Given the description of an element on the screen output the (x, y) to click on. 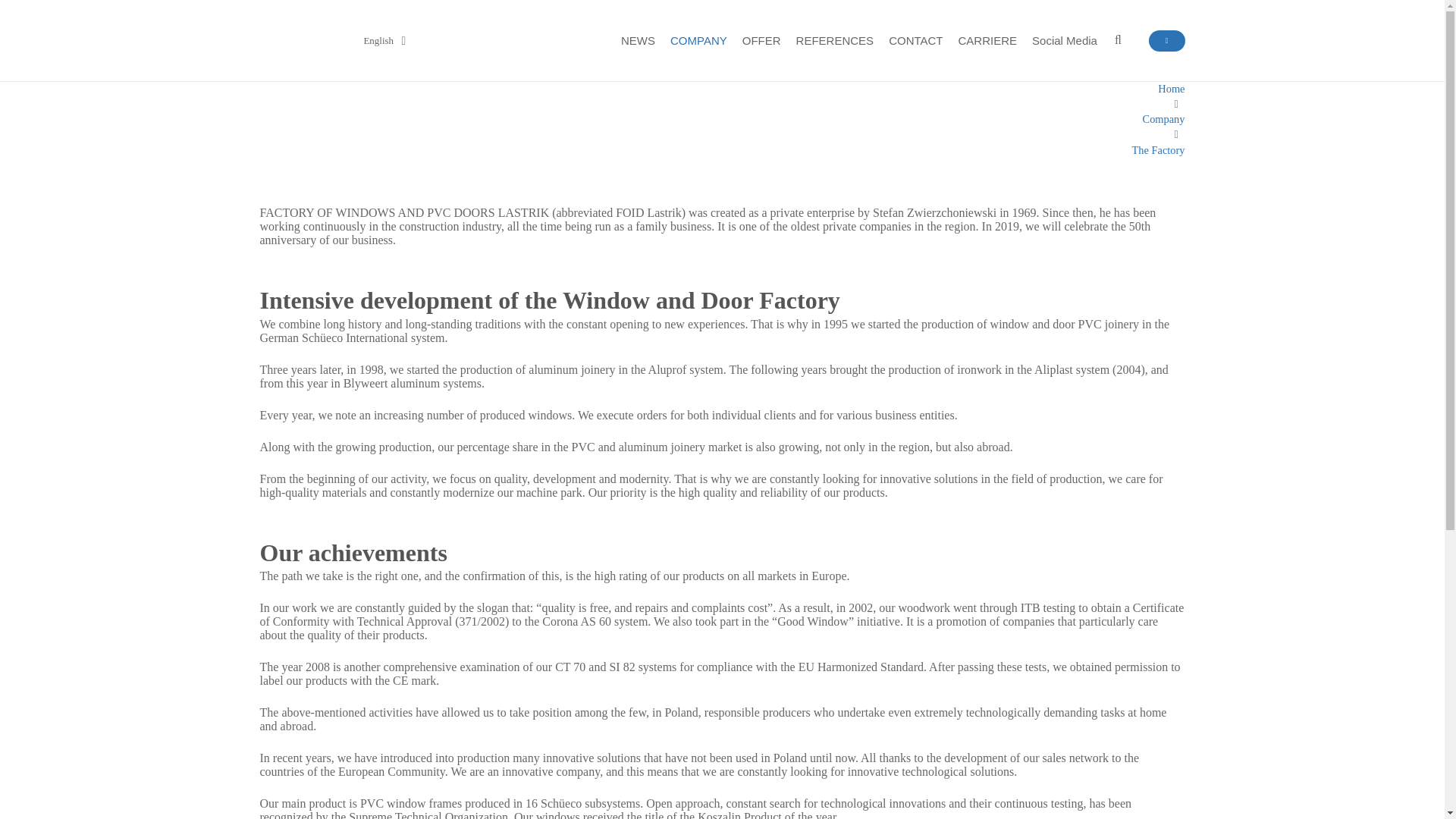
English (374, 39)
COMPANY (698, 39)
OFFER (762, 39)
NEWS (637, 39)
